Given the description of an element on the screen output the (x, y) to click on. 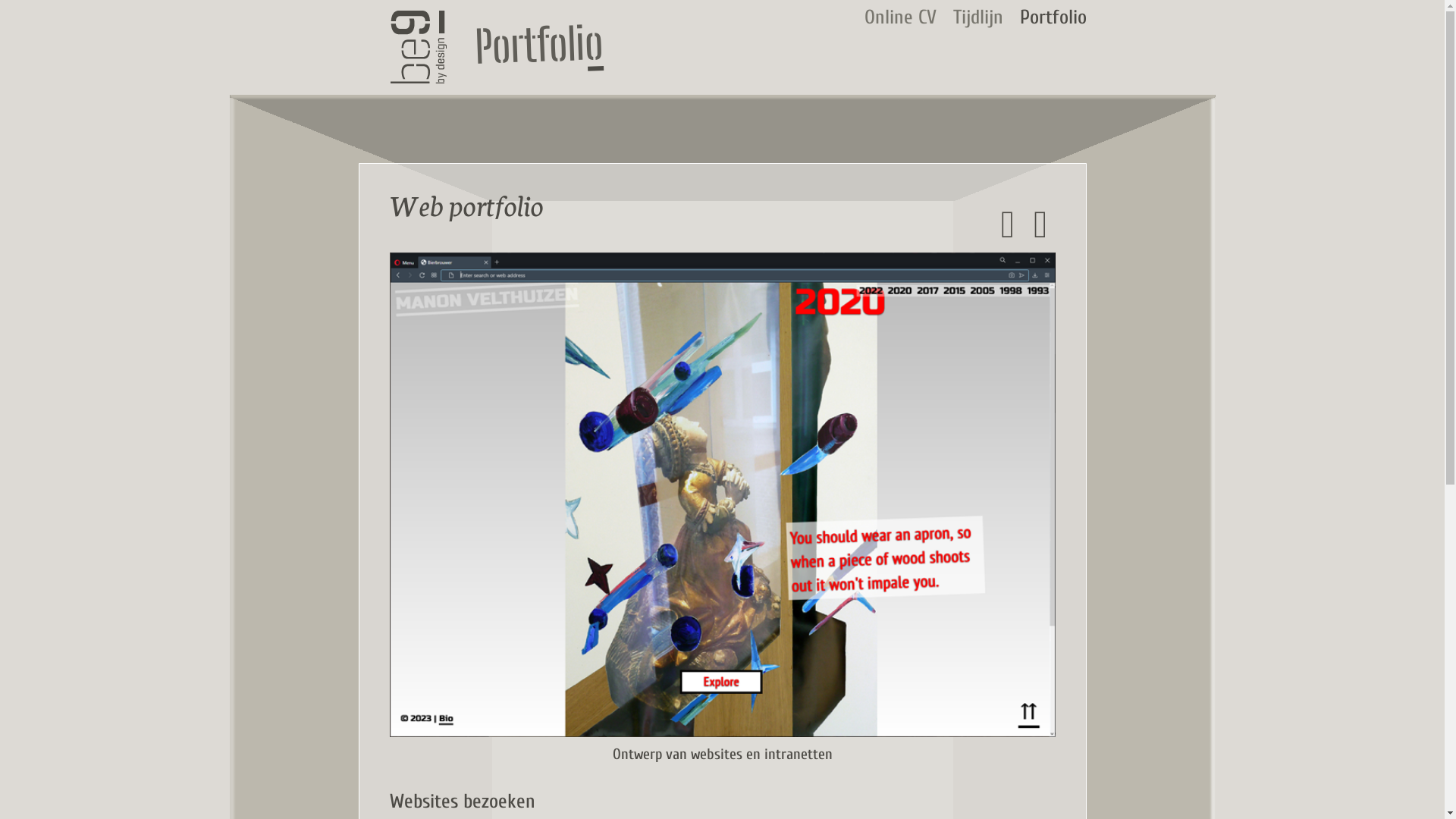
Tijdlijn Element type: text (977, 17)
Online CV Element type: text (900, 17)
